Given the description of an element on the screen output the (x, y) to click on. 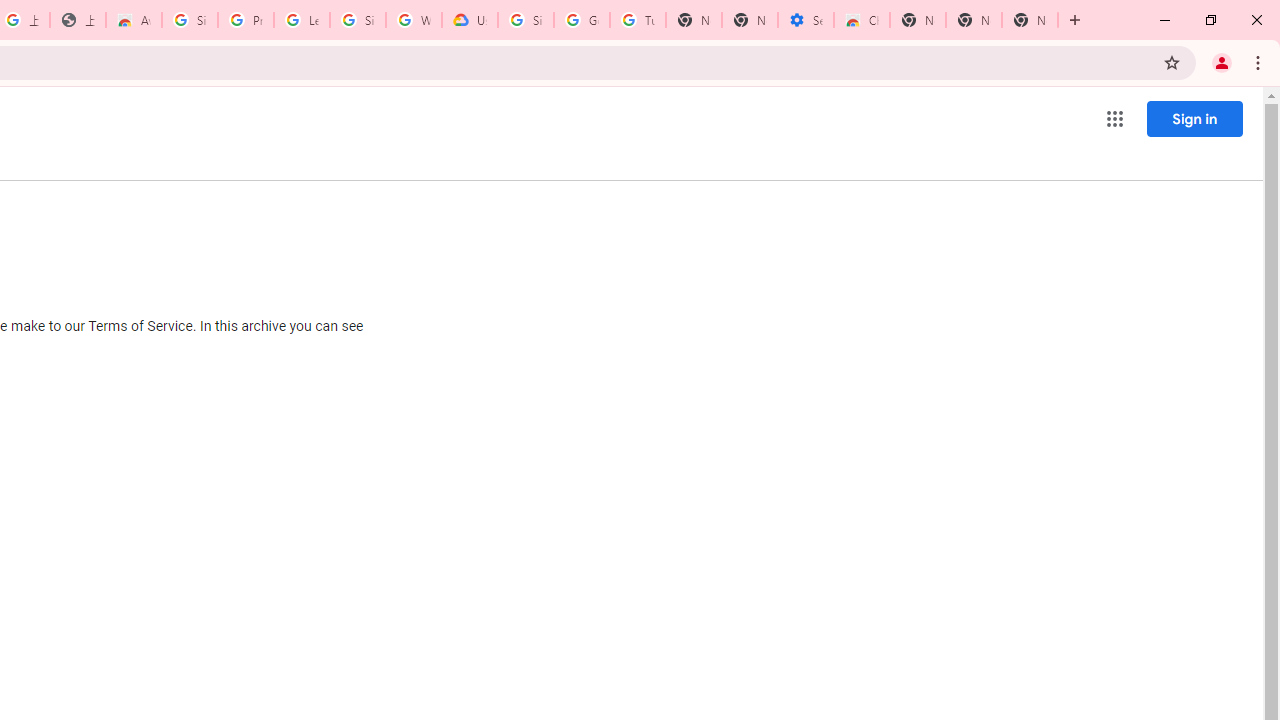
Sign in - Google Accounts (189, 20)
Who are Google's partners? - Privacy and conditions - Google (413, 20)
Turn cookies on or off - Computer - Google Account Help (637, 20)
New Tab (917, 20)
Awesome Screen Recorder & Screenshot - Chrome Web Store (134, 20)
